Given the description of an element on the screen output the (x, y) to click on. 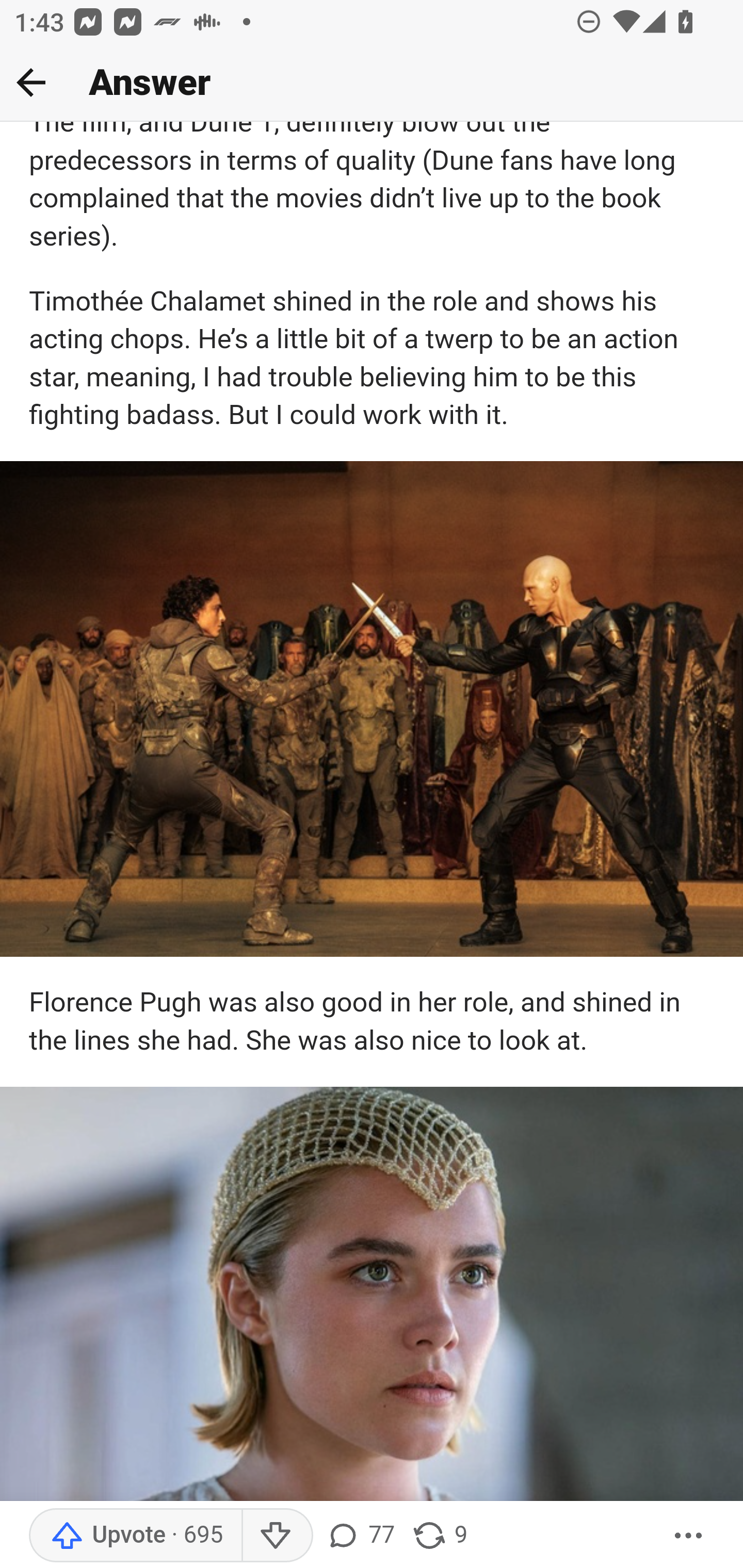
Back (30, 82)
main-qimg-cccb61f29d39ea515acf9925c6e5d1be (371, 709)
main-qimg-25b8b1f2e44b4cd405b9f337c8cbc1ea (371, 1295)
Upvote (135, 1535)
Downvote (277, 1535)
77 comments (360, 1535)
9 shares (439, 1535)
More (688, 1535)
